Given the description of an element on the screen output the (x, y) to click on. 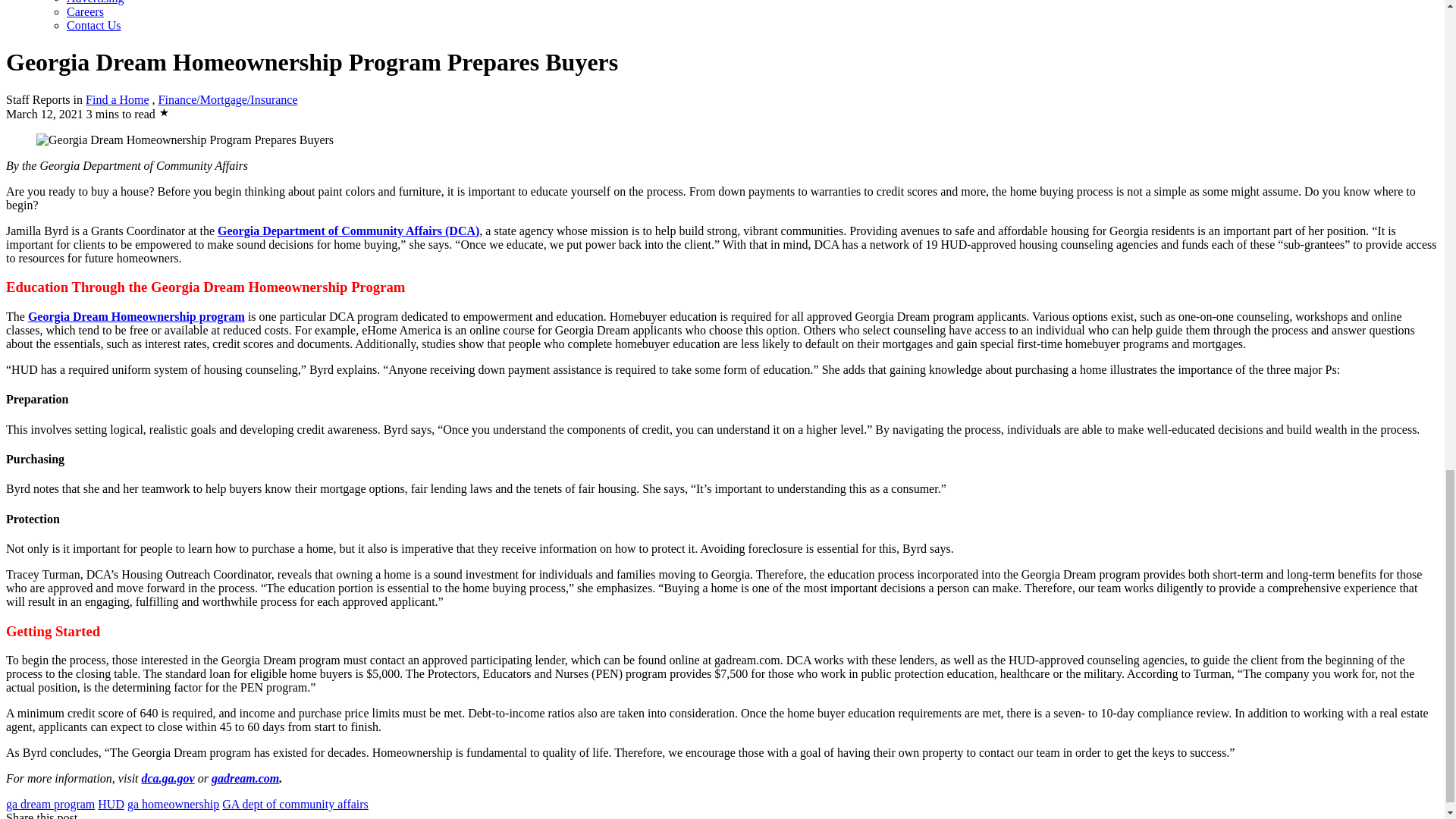
3 mins to read (120, 113)
